Given the description of an element on the screen output the (x, y) to click on. 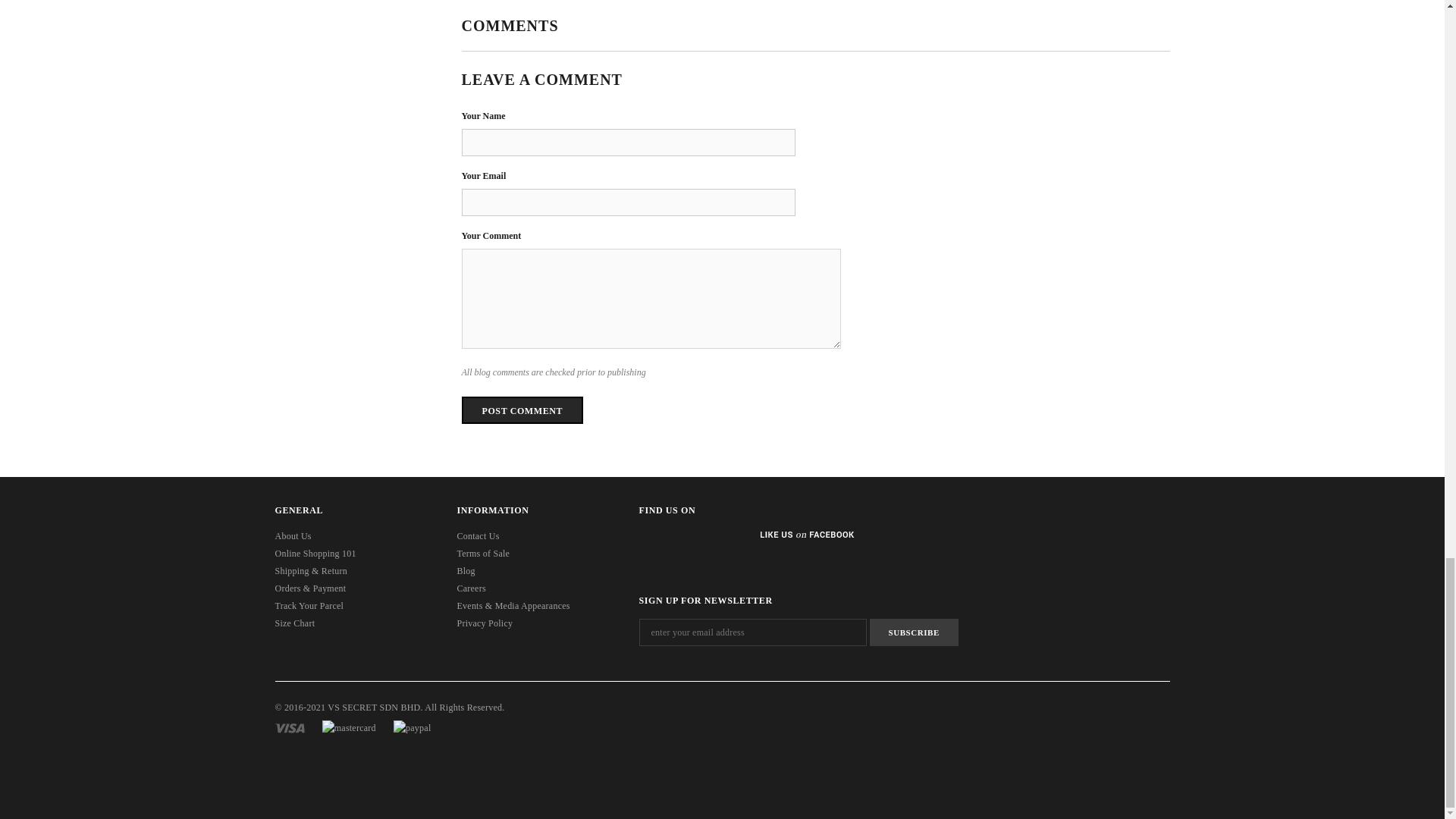
Subscribe (913, 632)
Post Comment (522, 410)
